Given the description of an element on the screen output the (x, y) to click on. 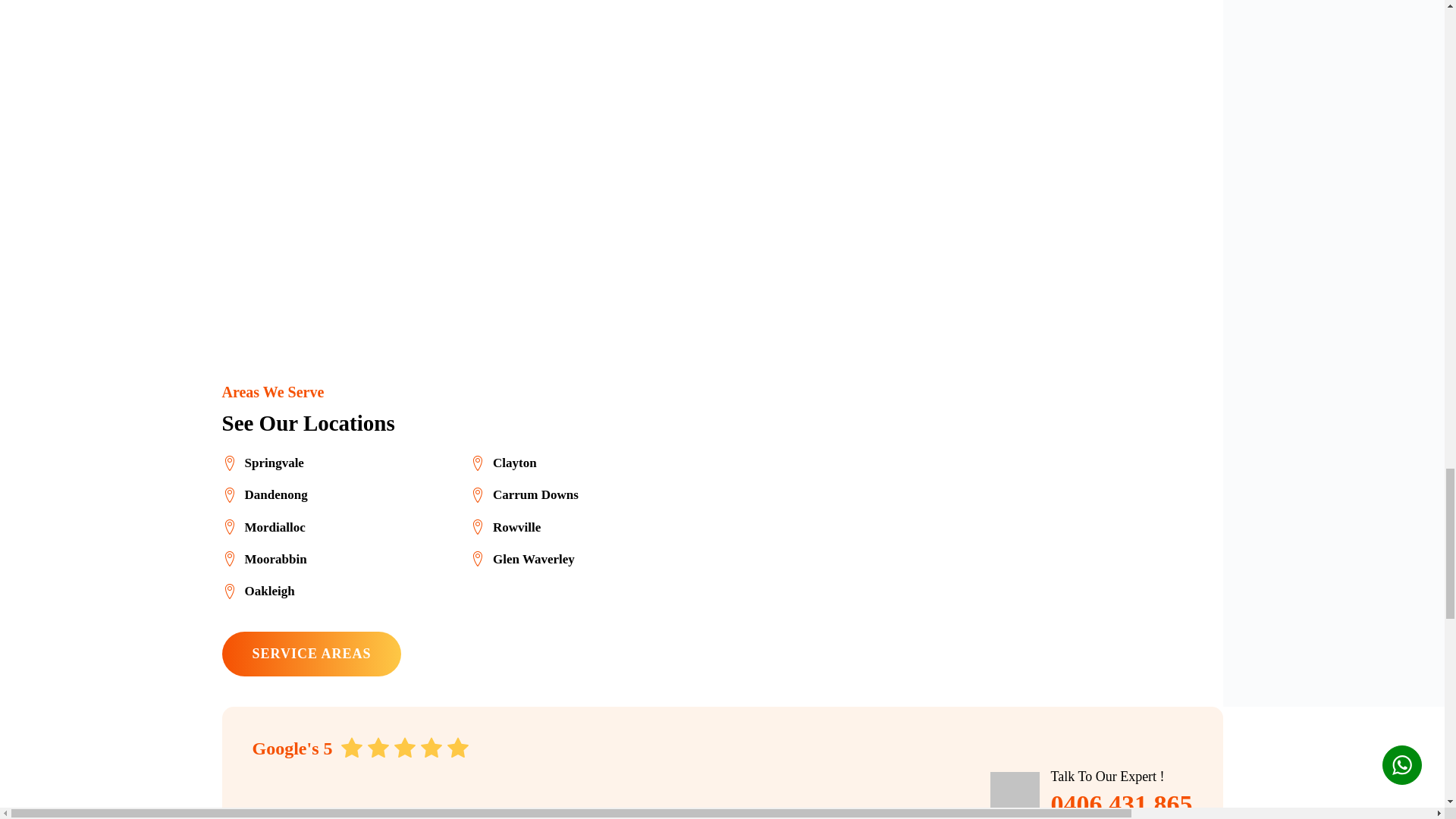
Carrum Downs (524, 494)
Rowville (505, 526)
Google's 5 (359, 748)
Dandenong (264, 494)
Moorabbin (263, 558)
Oakleigh (257, 590)
Springvale (261, 462)
Clayton (503, 462)
SERVICE AREAS (311, 653)
Glen Waverley (522, 558)
Mordialloc (262, 526)
0406 431 865 (1121, 803)
